Given the description of an element on the screen output the (x, y) to click on. 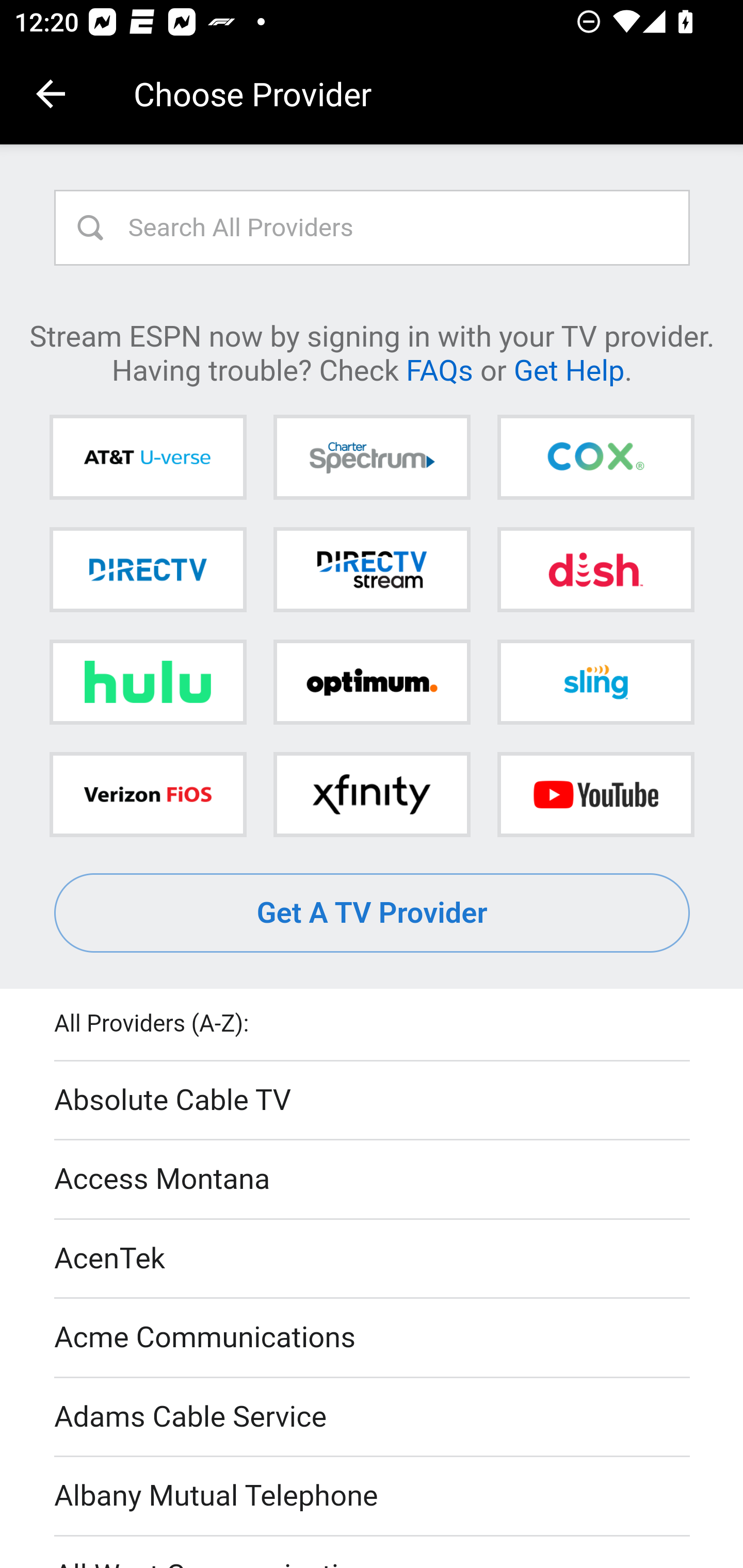
Navigate up (50, 93)
FAQs (438, 369)
Get Help (569, 369)
AT&T U-verse (147, 457)
Charter Spectrum (371, 457)
Cox (595, 457)
DIRECTV (147, 568)
DIRECTV STREAM (371, 568)
DISH (595, 568)
Hulu (147, 681)
Optimum (371, 681)
Sling TV (595, 681)
Verizon FiOS (147, 793)
Xfinity (371, 793)
YouTube TV (595, 793)
Get A TV Provider (372, 912)
Absolute Cable TV (372, 1100)
Access Montana (372, 1178)
AcenTek (372, 1258)
Acme Communications (372, 1338)
Adams Cable Service (372, 1417)
Albany Mutual Telephone (372, 1497)
